Given the description of an element on the screen output the (x, y) to click on. 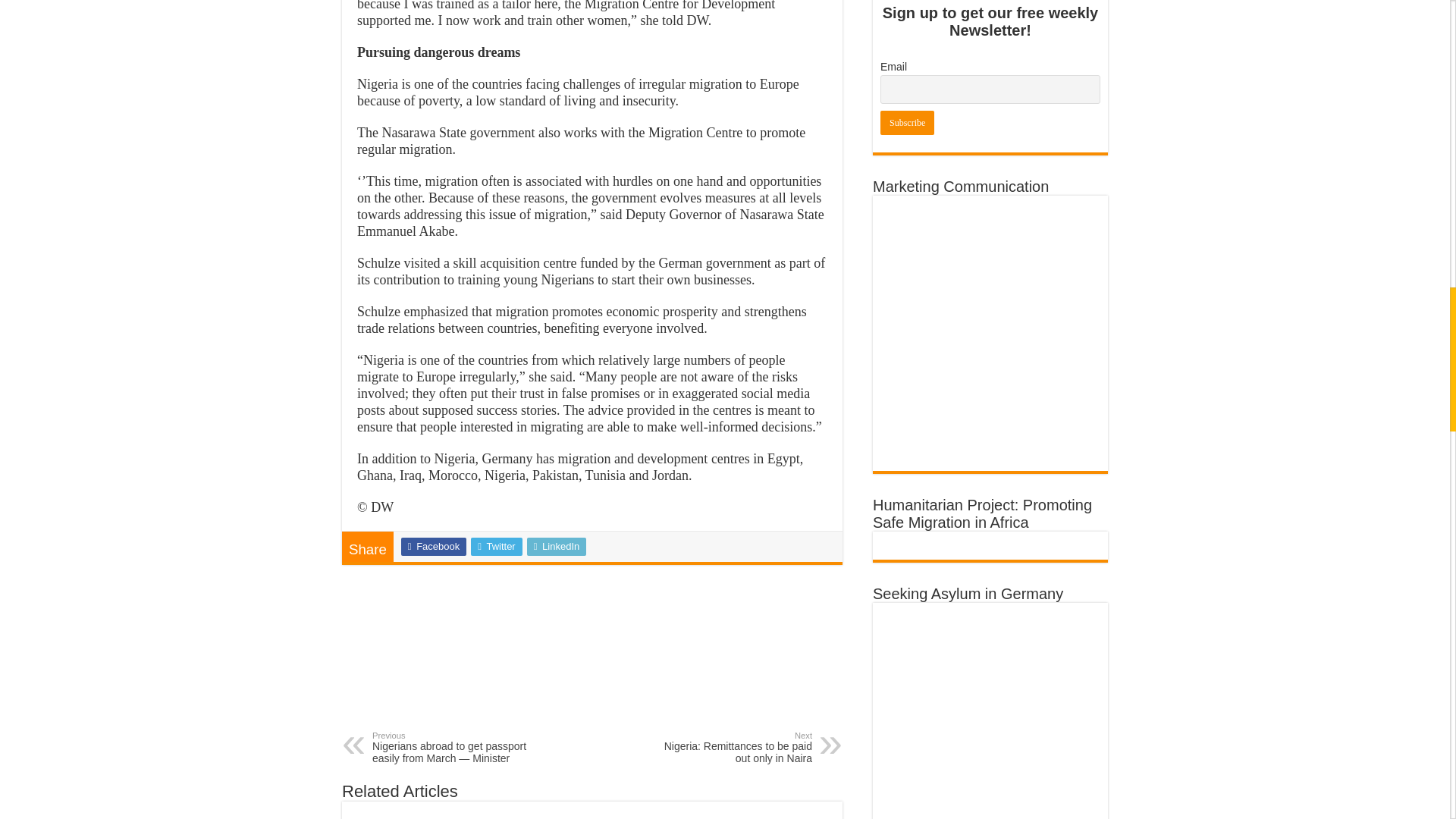
Subscribe (907, 122)
